Given the description of an element on the screen output the (x, y) to click on. 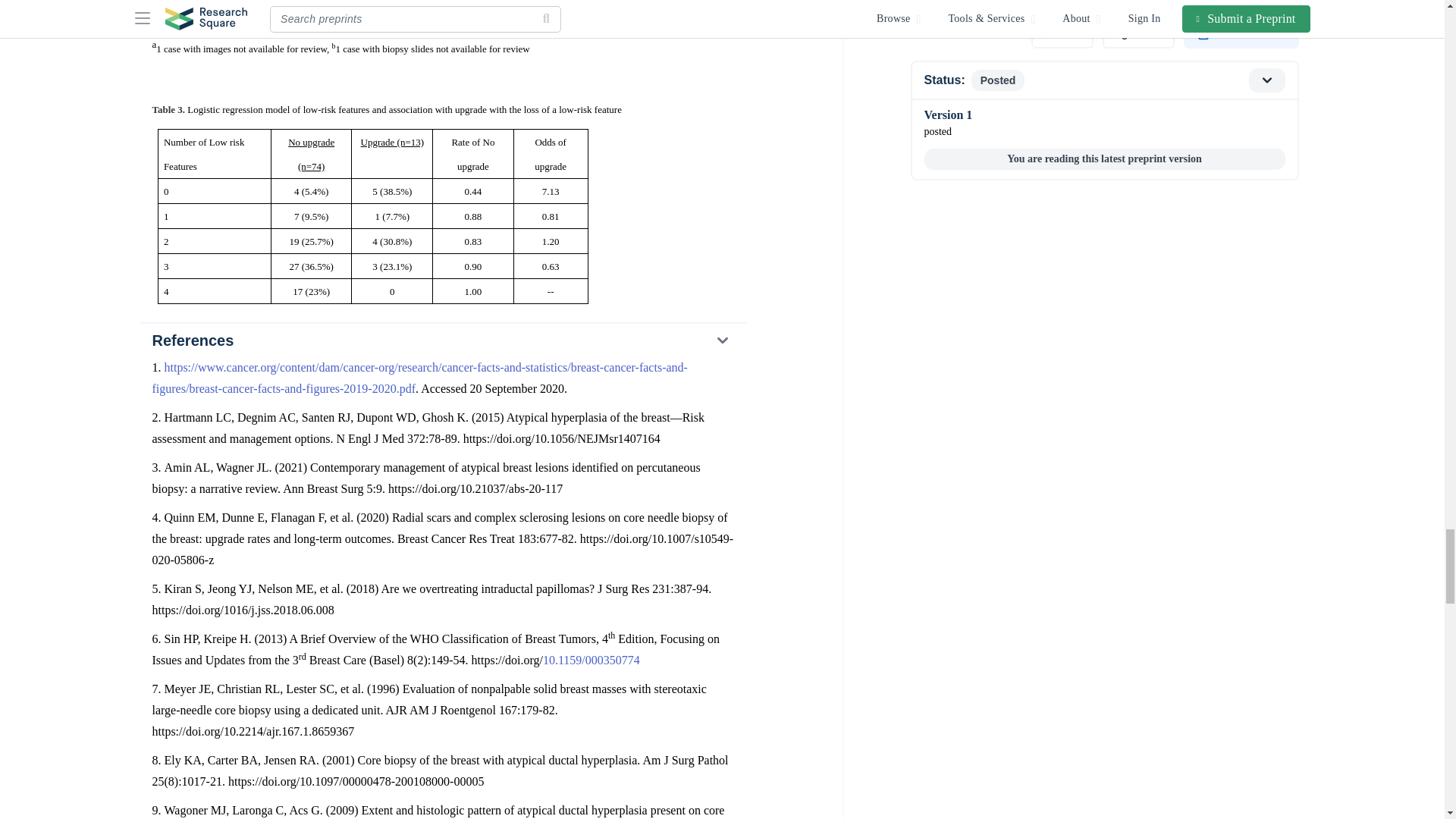
References (442, 340)
